Given the description of an element on the screen output the (x, y) to click on. 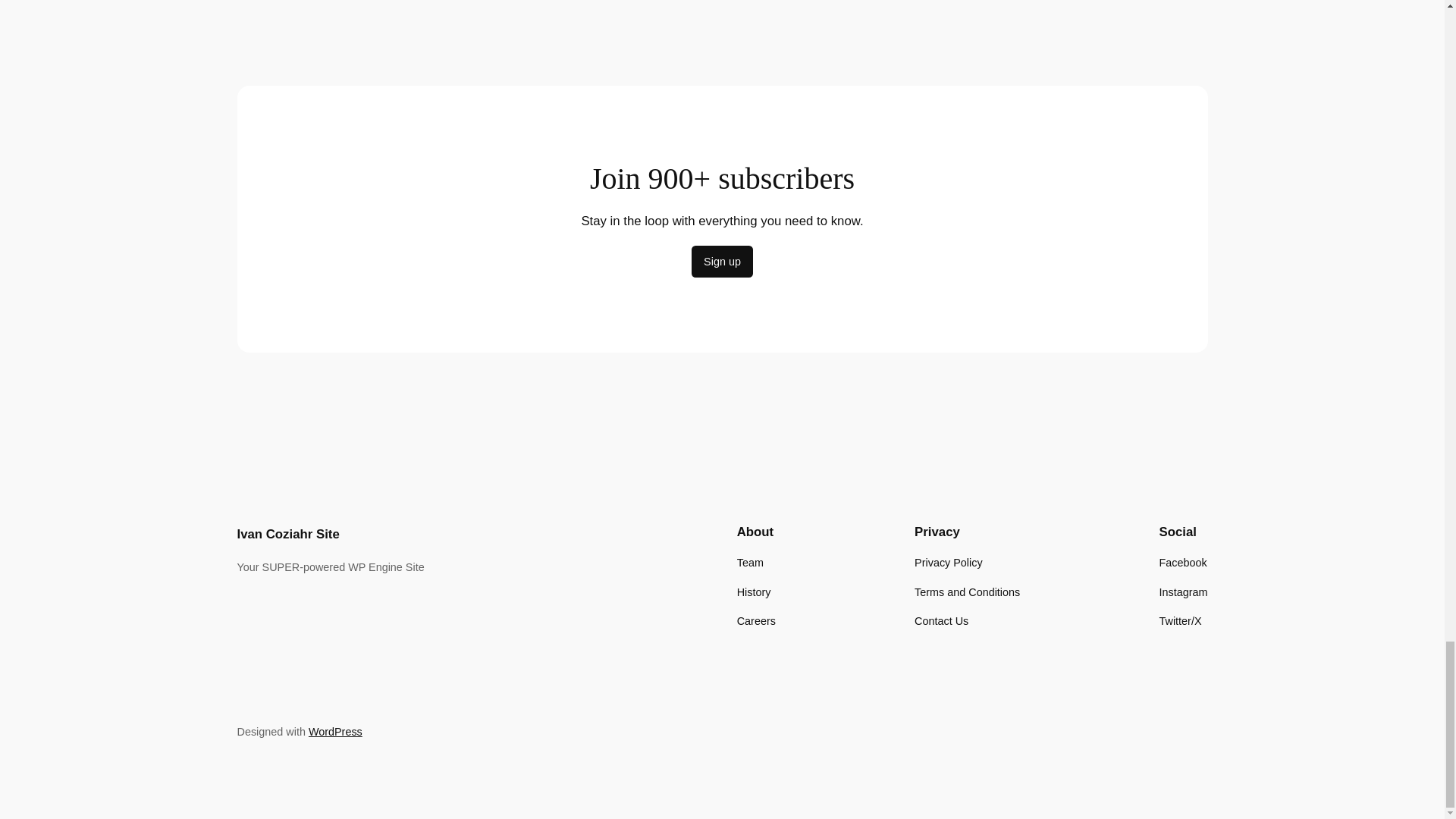
Team (749, 562)
Ivan Coziahr Site (287, 534)
Facebook (1182, 562)
Instagram (1182, 591)
Careers (756, 620)
Sign up (721, 261)
History (753, 591)
Privacy Policy (948, 562)
WordPress (335, 731)
Contact Us (941, 620)
